Given the description of an element on the screen output the (x, y) to click on. 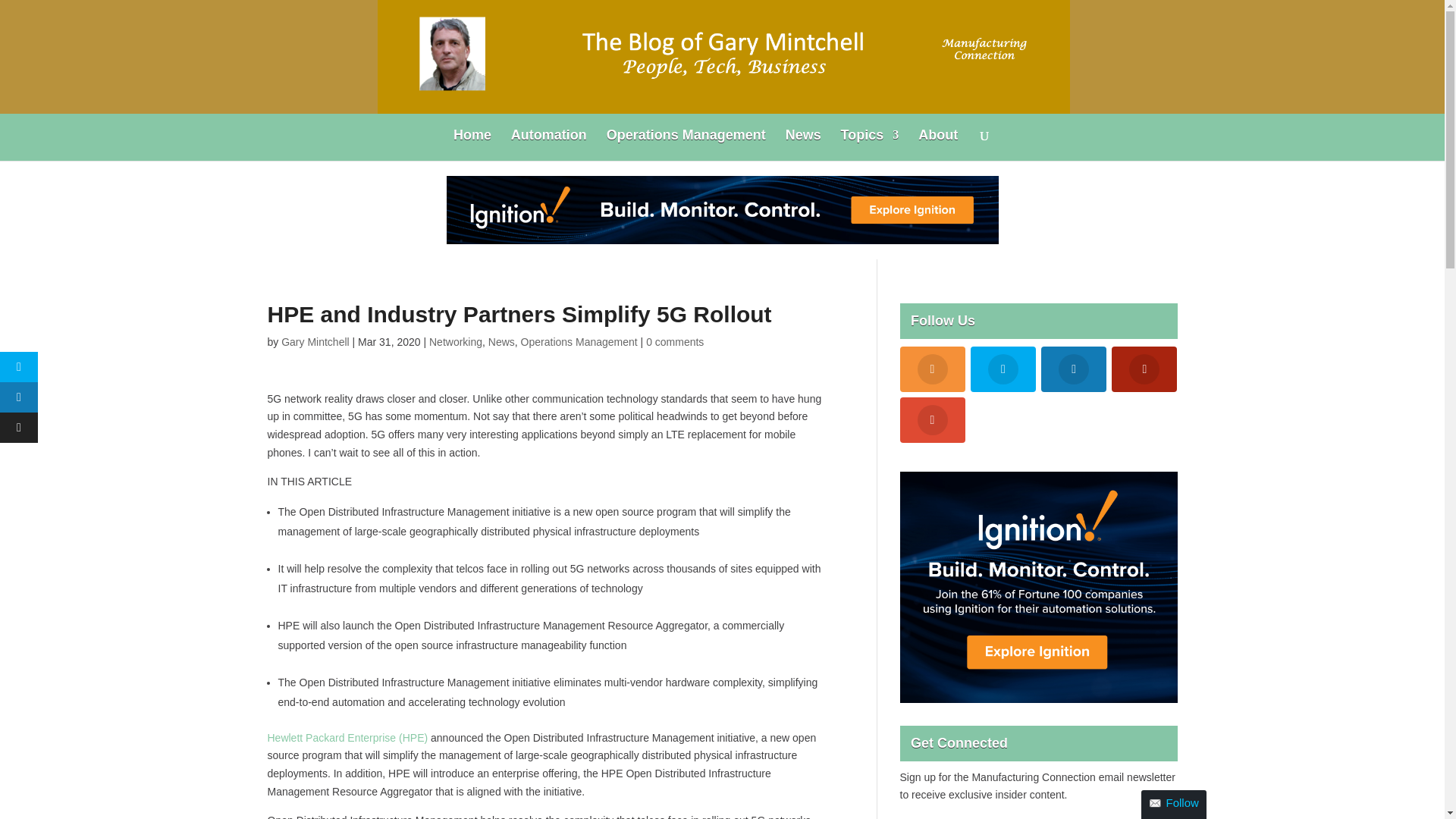
0 comments (674, 341)
Home (472, 144)
Topics (870, 144)
Operations Management (686, 144)
Automation (548, 144)
Posts by Gary Mintchell (315, 341)
Networking (455, 341)
About (938, 144)
Operations Management (579, 341)
News (803, 144)
News (501, 341)
Gary Mintchell (315, 341)
